Given the description of an element on the screen output the (x, y) to click on. 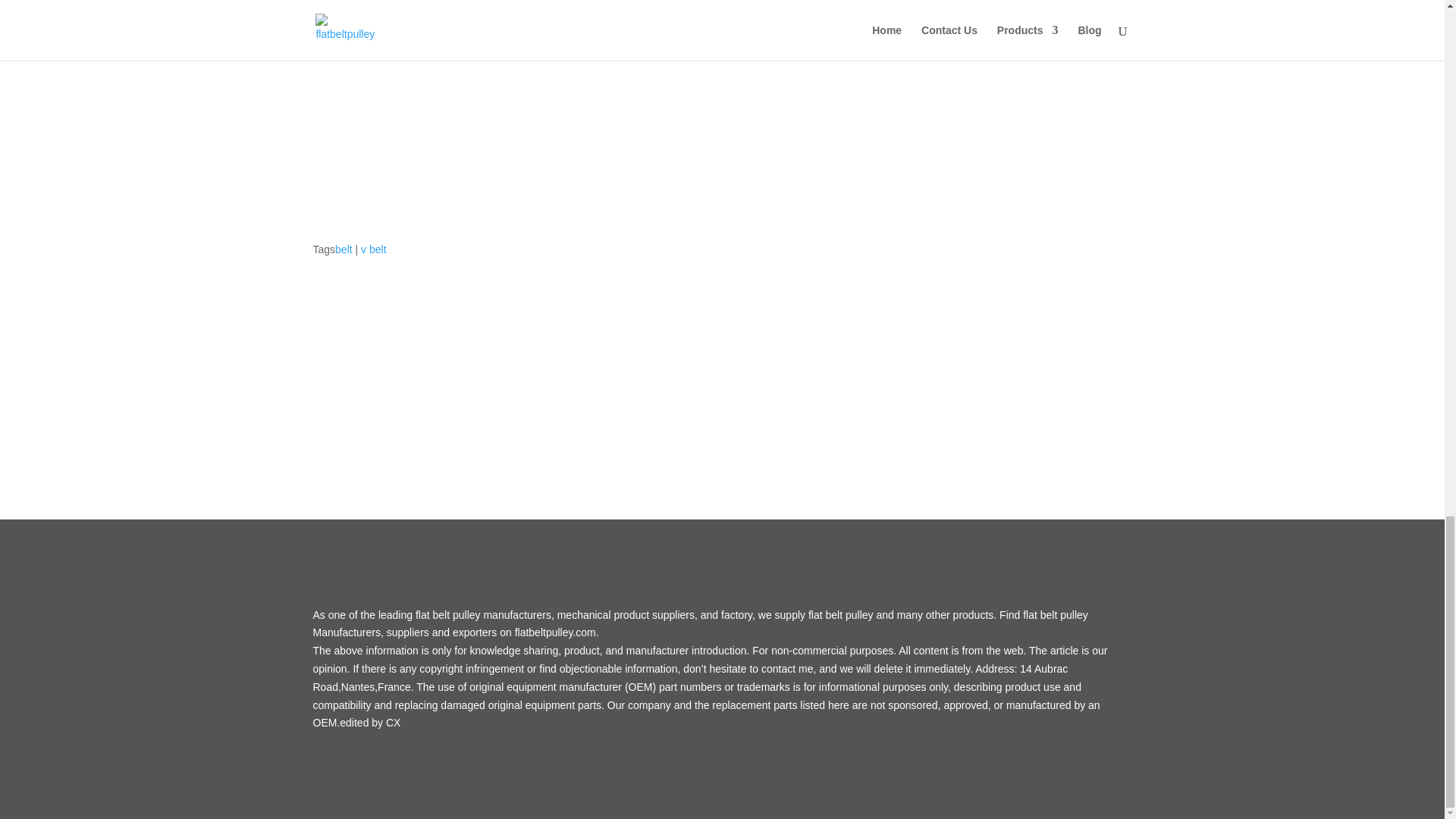
v belt (373, 249)
belt (343, 249)
